Given the description of an element on the screen output the (x, y) to click on. 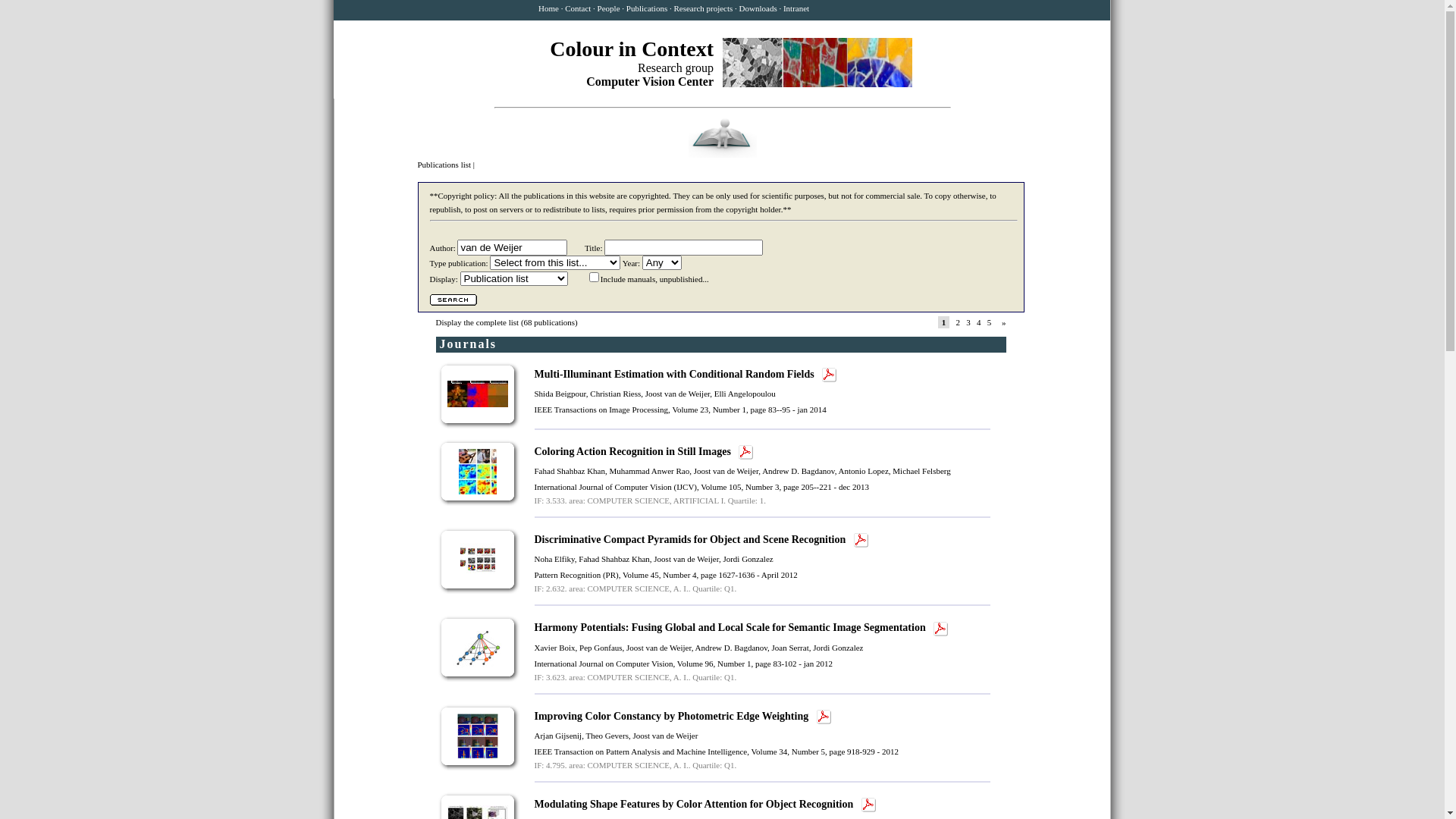
Downloads Element type: text (758, 7)
Christian Riess Element type: text (614, 393)
Fahad Shahbaz Khan Element type: text (568, 470)
Joost van de Weijer Element type: text (658, 647)
Joost van de Weijer Element type: text (677, 393)
Research projects Element type: text (702, 7)
Contact Element type: text (577, 7)
2 Element type: text (957, 321)
Multi-Illuminant Estimation with Conditional Random Fields Element type: text (674, 373)
People Element type: text (608, 7)
Coloring Action Recognition in Still Images Element type: text (633, 451)
Intranet Element type: text (796, 7)
3 Element type: text (968, 321)
Joost van de Weijer Element type: text (726, 470)
Joost van de Weijer Element type: text (685, 558)
Publications list Element type: text (444, 164)
Fahad Shahbaz Khan Element type: text (613, 558)
4 Element type: text (978, 321)
Improving Color Constancy by Photometric Edge Weighting Element type: text (671, 715)
Home Element type: text (548, 7)
Display the complete list Element type: text (476, 321)
5 Element type: text (989, 321)
Publications Element type: text (646, 7)
Joost van de Weijer Element type: text (664, 735)
Elli Angelopoulou Element type: text (744, 393)
